Given the description of an element on the screen output the (x, y) to click on. 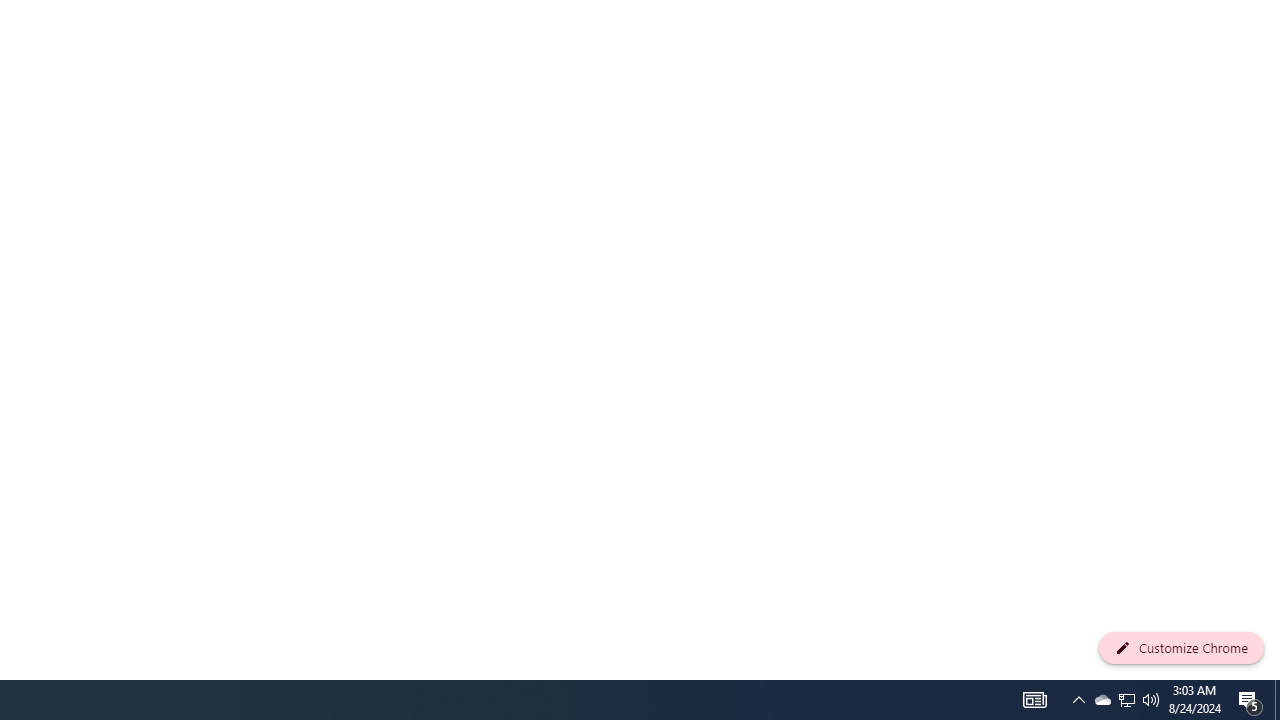
Customize Chrome (1181, 647)
